Given the description of an element on the screen output the (x, y) to click on. 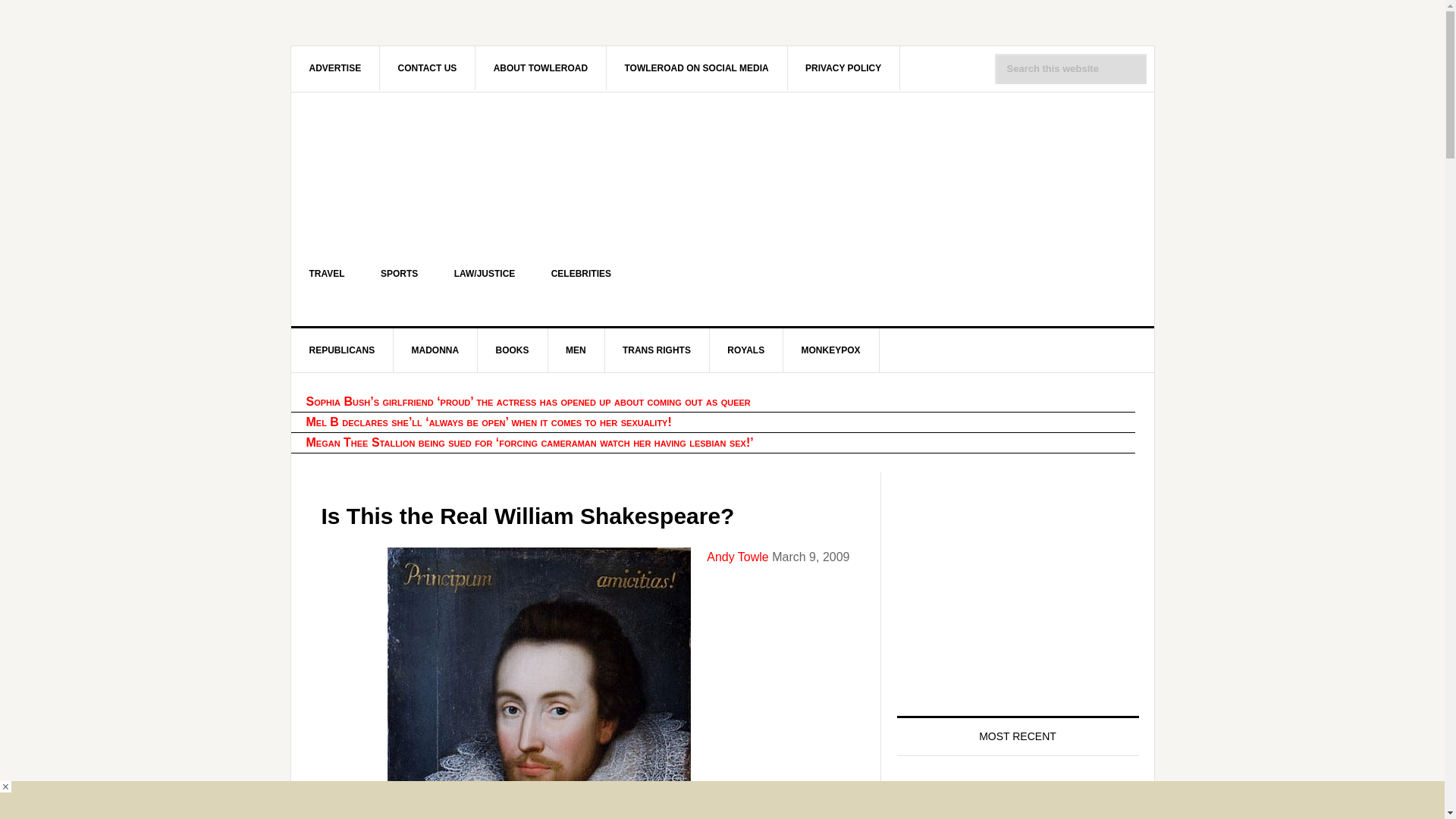
close (5, 786)
MONKEYPOX (831, 349)
TRANS RIGHTS (657, 349)
ABOUT TOWLEROAD (541, 67)
TRAVEL (326, 273)
Andy Towle (737, 556)
BOOKS (512, 349)
CONTACT US (428, 67)
